Given the description of an element on the screen output the (x, y) to click on. 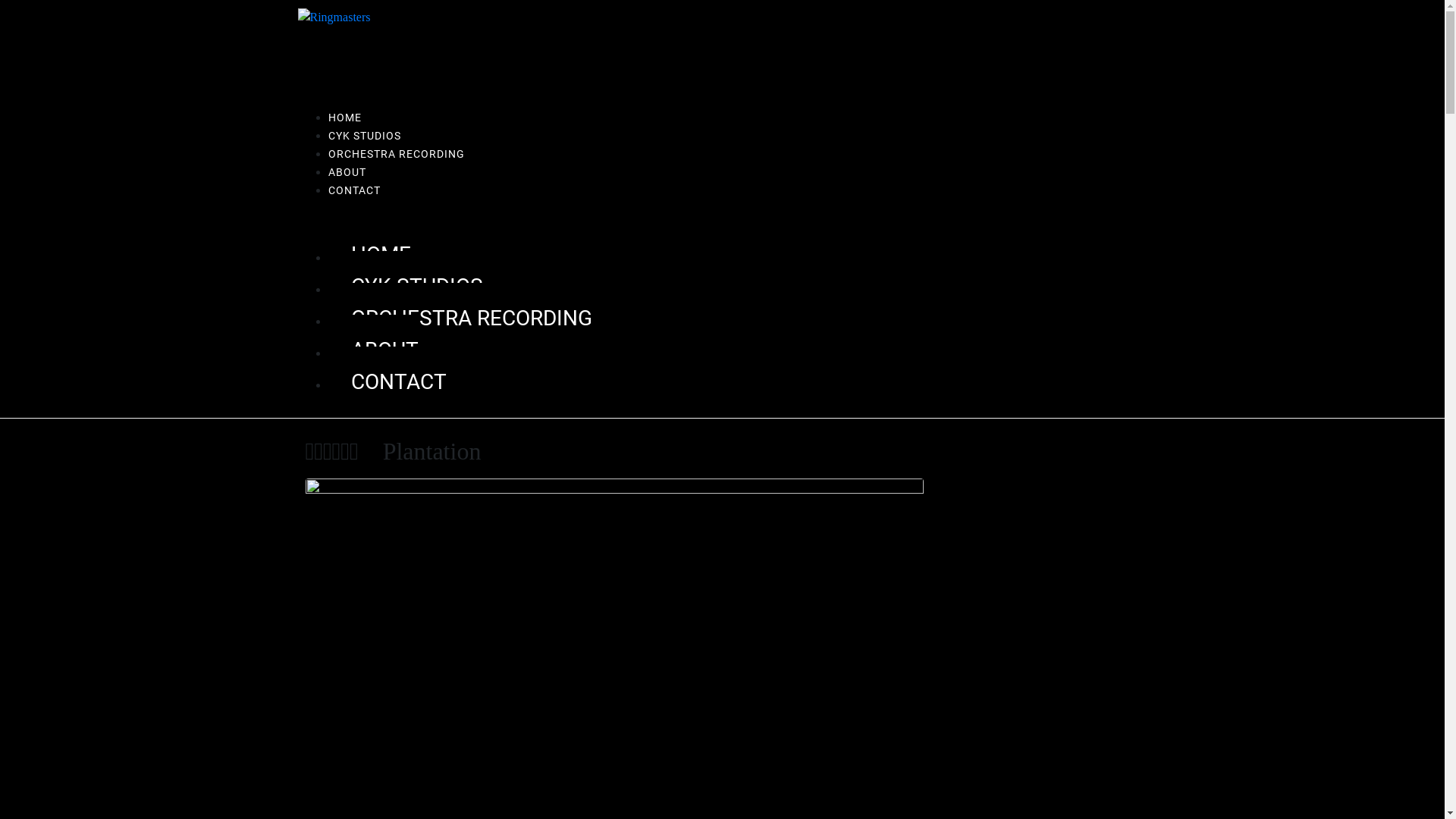
CONTACT Element type: text (386, 381)
CYK STUDIOS Element type: text (363, 135)
HOME Element type: text (368, 254)
HOME Element type: text (343, 117)
CONTACT Element type: text (353, 190)
CYK STUDIOS Element type: text (404, 286)
ORCHESTRA RECORDING Element type: text (395, 153)
ABOUT Element type: text (346, 172)
ABOUT Element type: text (372, 349)
ORCHESTRA RECORDING Element type: text (459, 317)
